Given the description of an element on the screen output the (x, y) to click on. 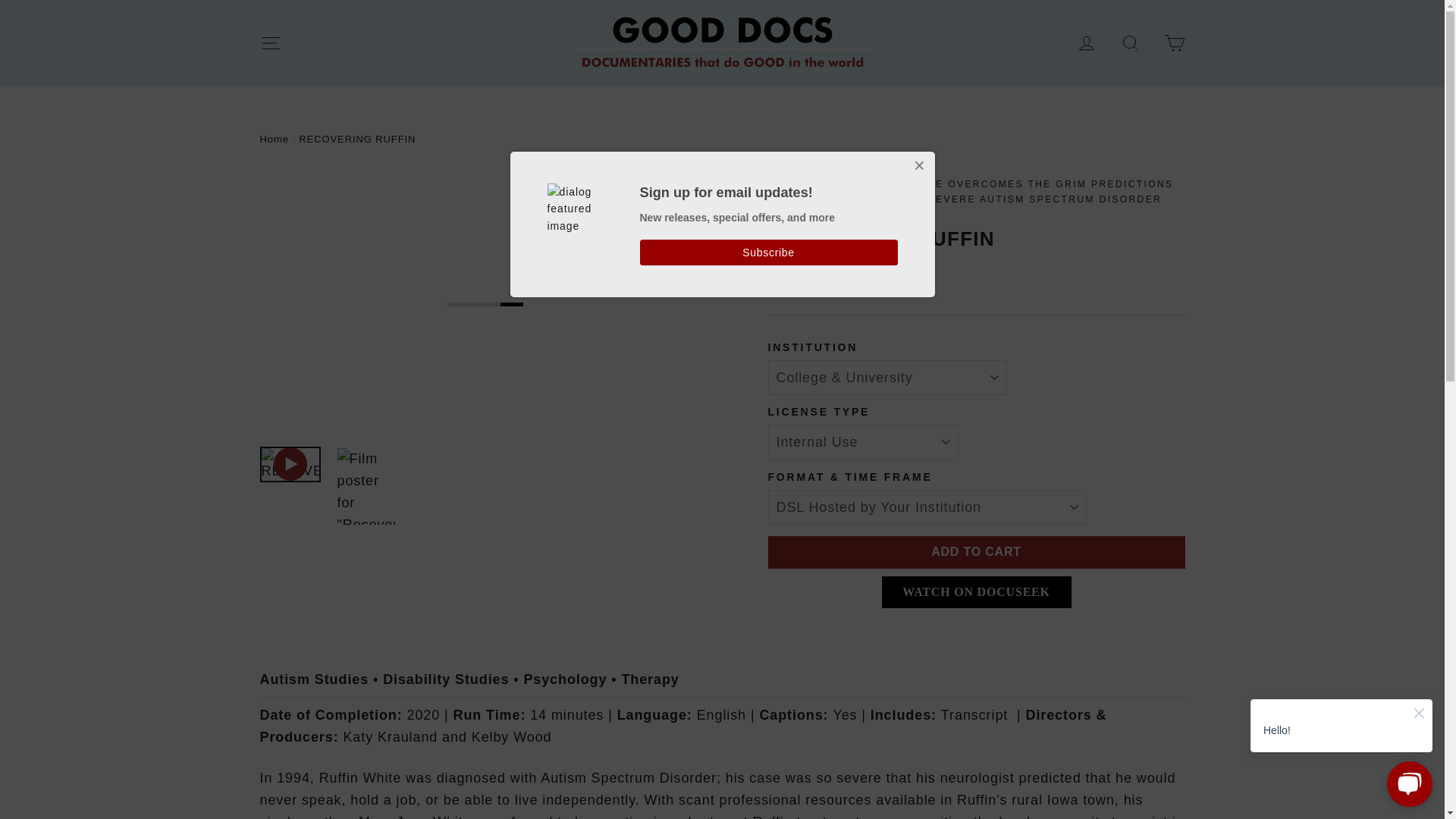
Site navigation (269, 42)
Back to the frontpage (273, 138)
Search (1130, 42)
Log in (1086, 42)
WATCH ON DOCUSEEK (975, 592)
